Given the description of an element on the screen output the (x, y) to click on. 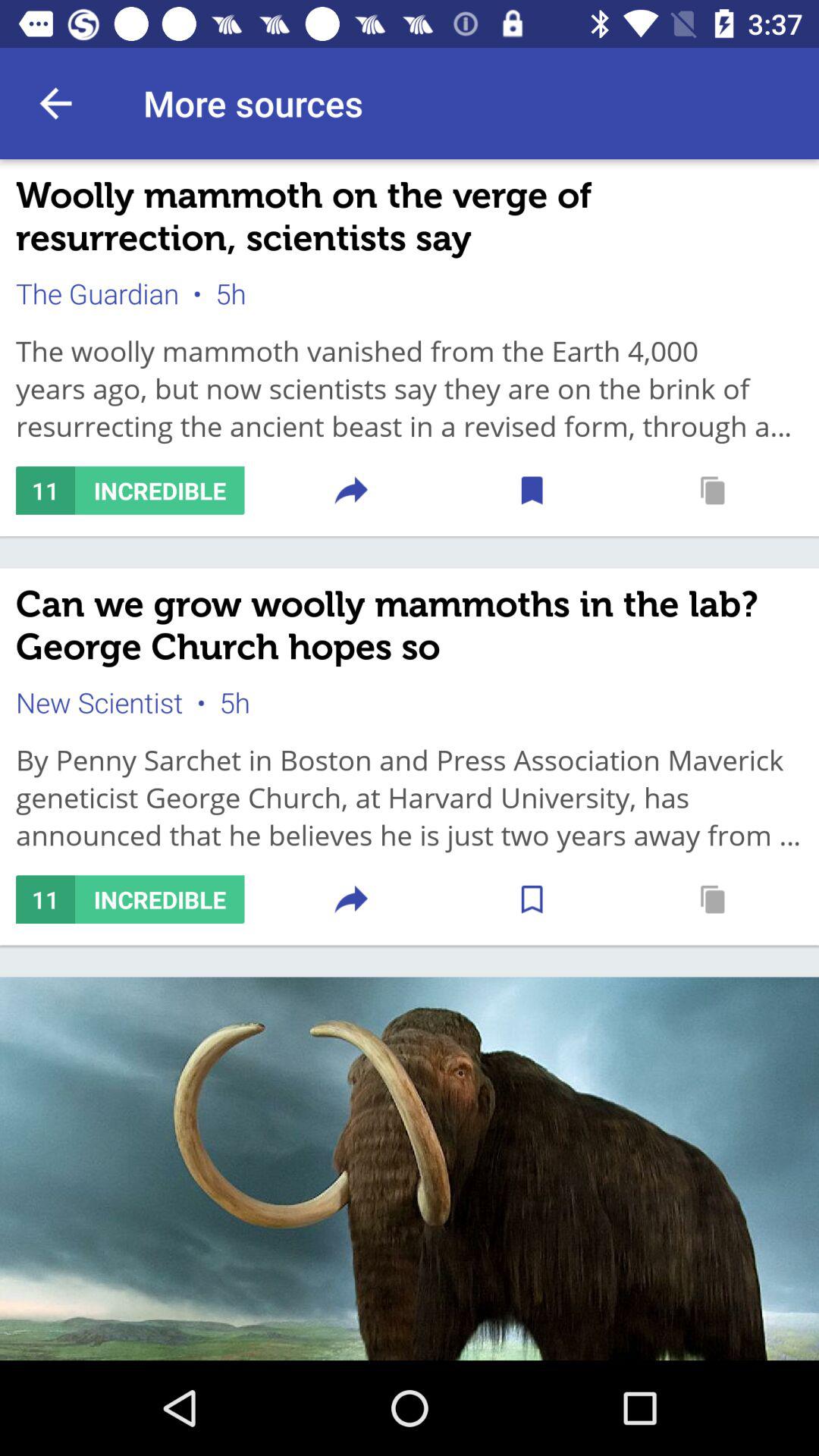
click item to the left of the more sources (55, 103)
